Given the description of an element on the screen output the (x, y) to click on. 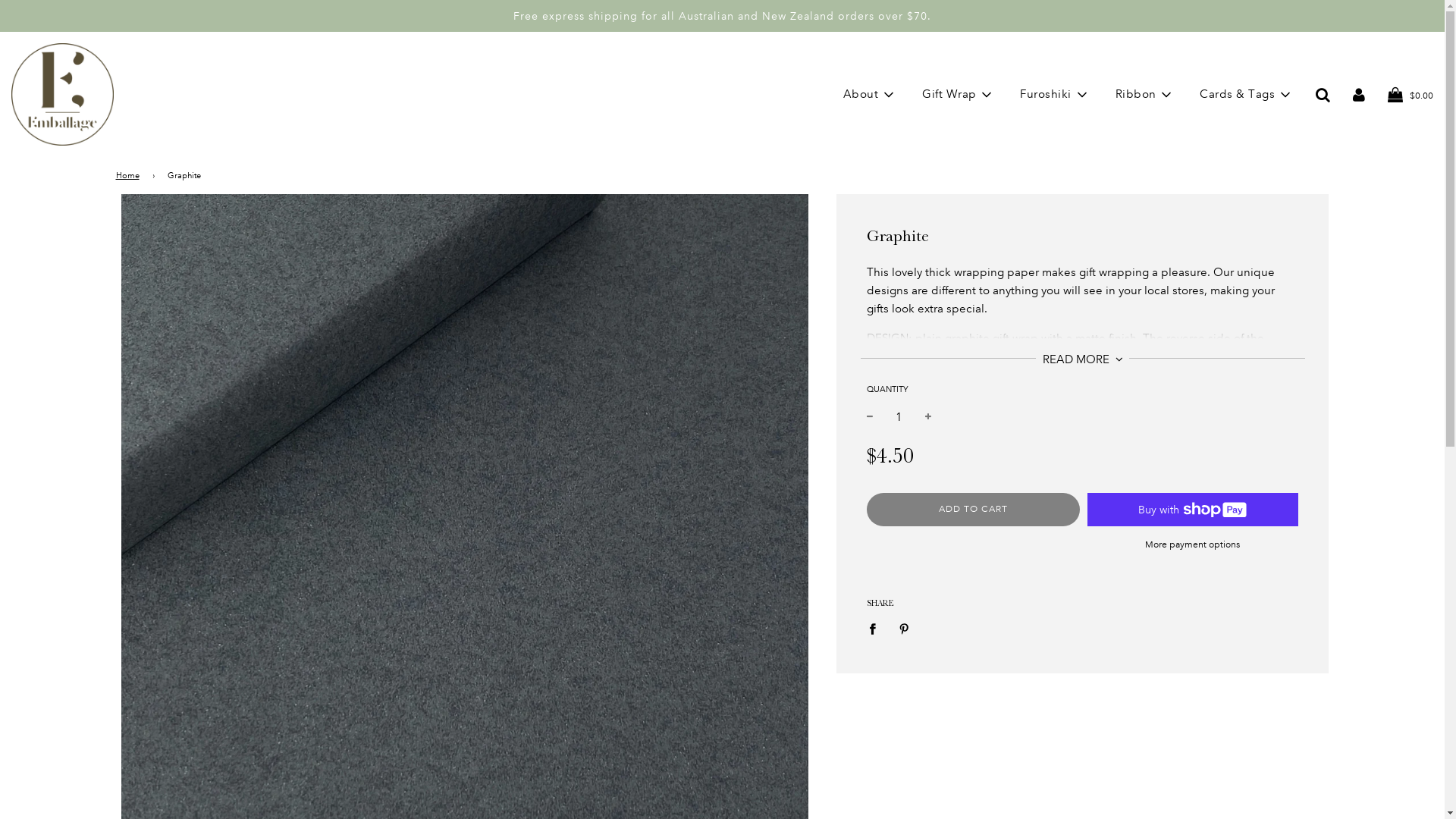
Gift Wrap Element type: text (957, 94)
Log in Element type: hover (1358, 94)
Ribbon Element type: text (1145, 94)
Cards & Tags Element type: text (1246, 94)
Furoshiki Element type: text (1054, 94)
READ MORE Element type: text (1082, 359)
ADD TO CART Element type: text (972, 509)
$0.00 Element type: text (1410, 94)
Home Element type: text (129, 175)
More payment options Element type: text (1192, 544)
About Element type: text (869, 94)
+ Element type: text (928, 416)
